Given the description of an element on the screen output the (x, y) to click on. 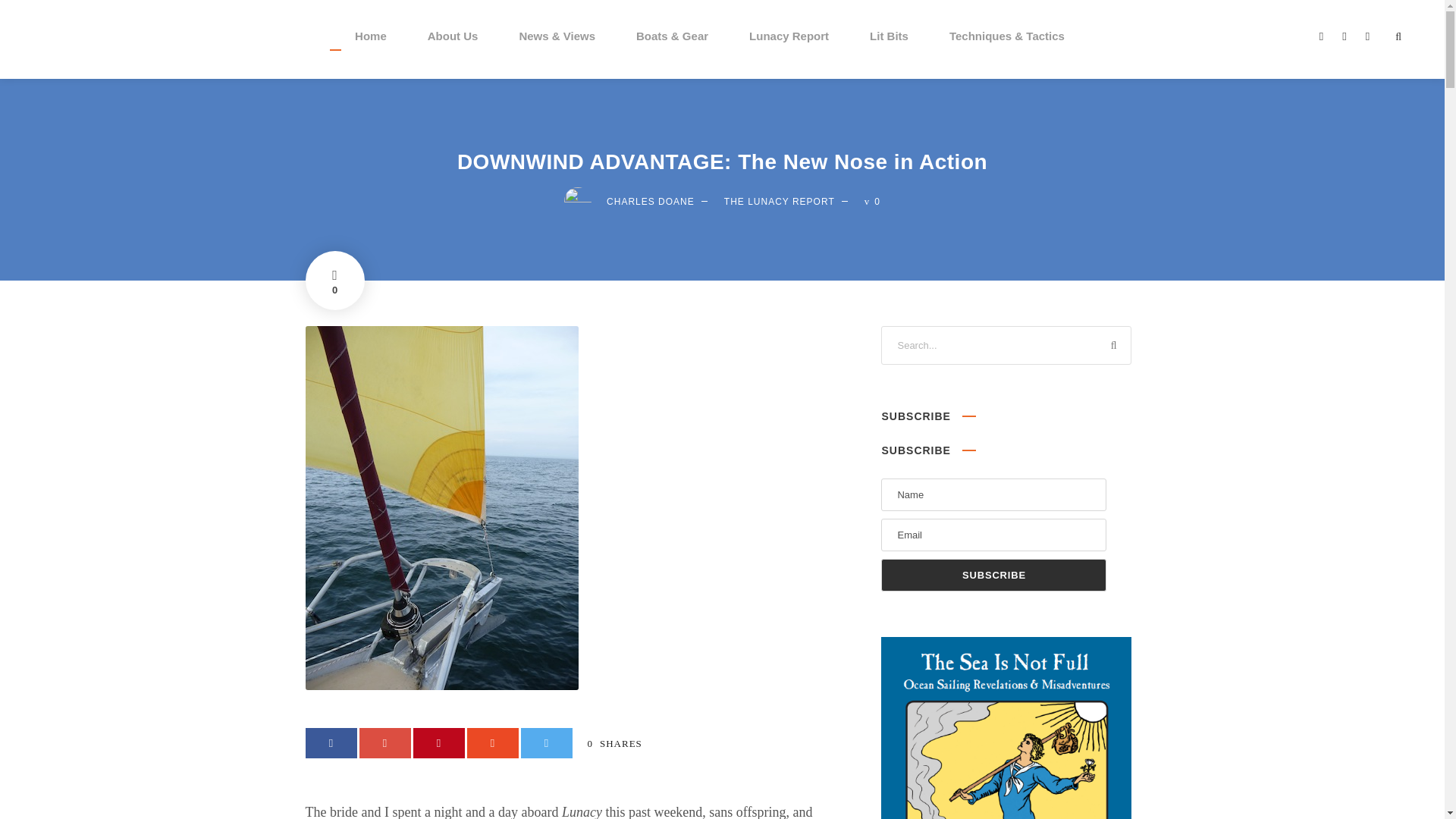
Posts by Charles Doane (650, 201)
logo5 (46, 41)
0 (334, 280)
CHARLES DOANE (650, 201)
Like this (334, 280)
Lunacy Report (788, 52)
About Us (453, 52)
Subscribe (993, 574)
THE LUNACY REPORT (778, 201)
